Given the description of an element on the screen output the (x, y) to click on. 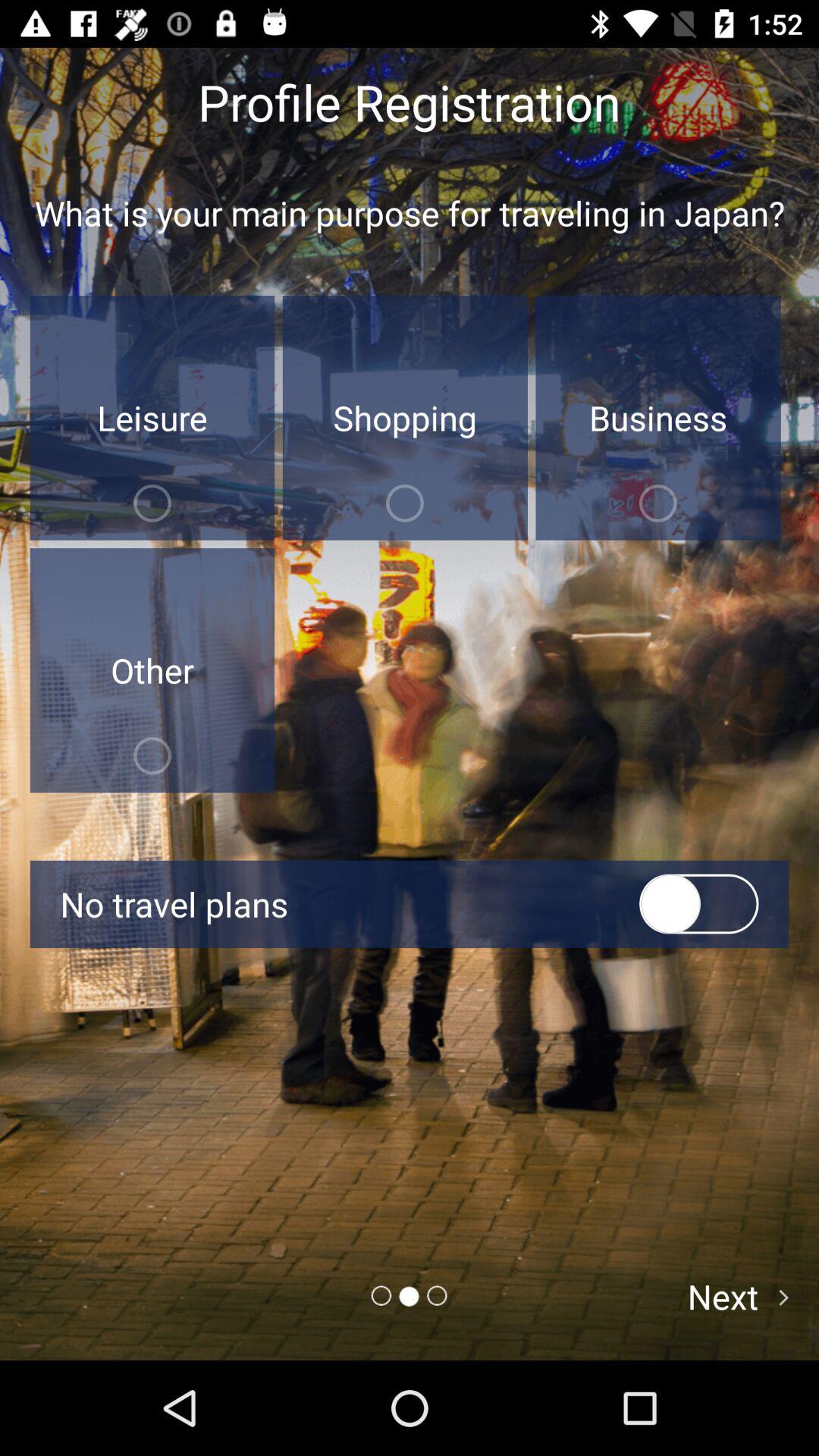
i have travel plans (698, 903)
